Given the description of an element on the screen output the (x, y) to click on. 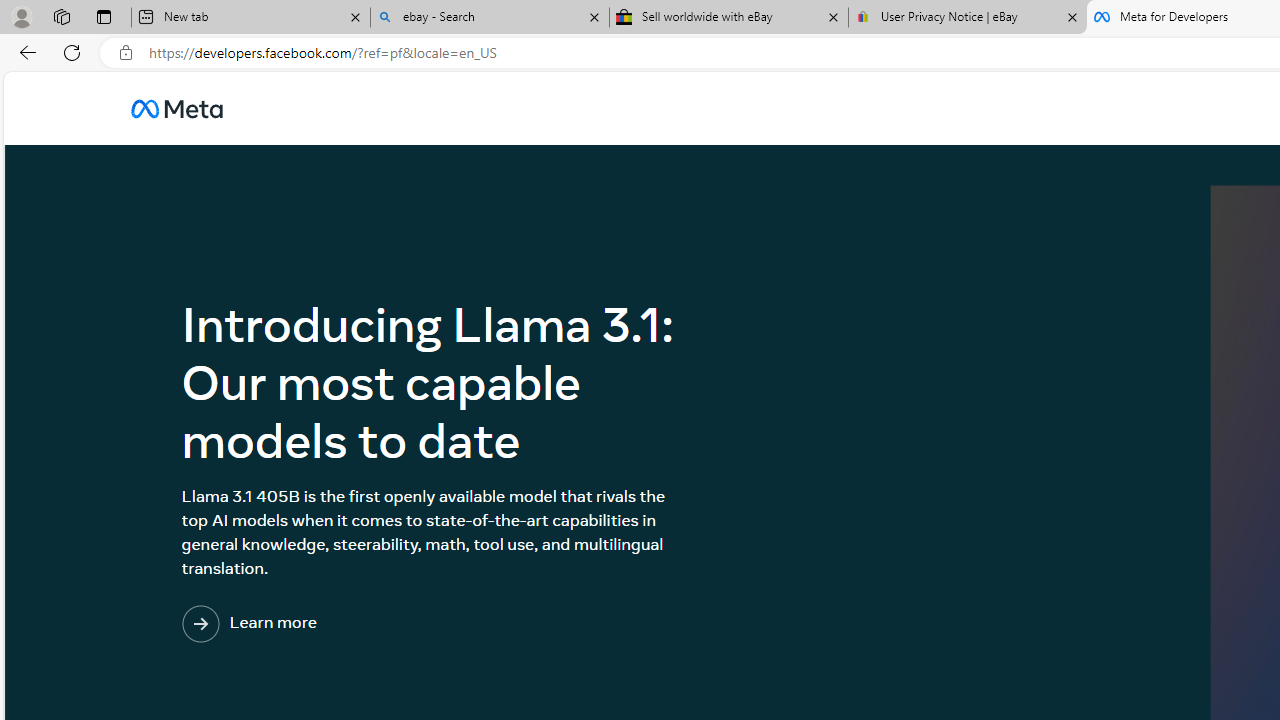
ebay - Search (490, 17)
AutomationID: u_0_25_3H (176, 107)
Sell worldwide with eBay (729, 17)
User Privacy Notice | eBay (967, 17)
Learn more (331, 624)
